Given the description of an element on the screen output the (x, y) to click on. 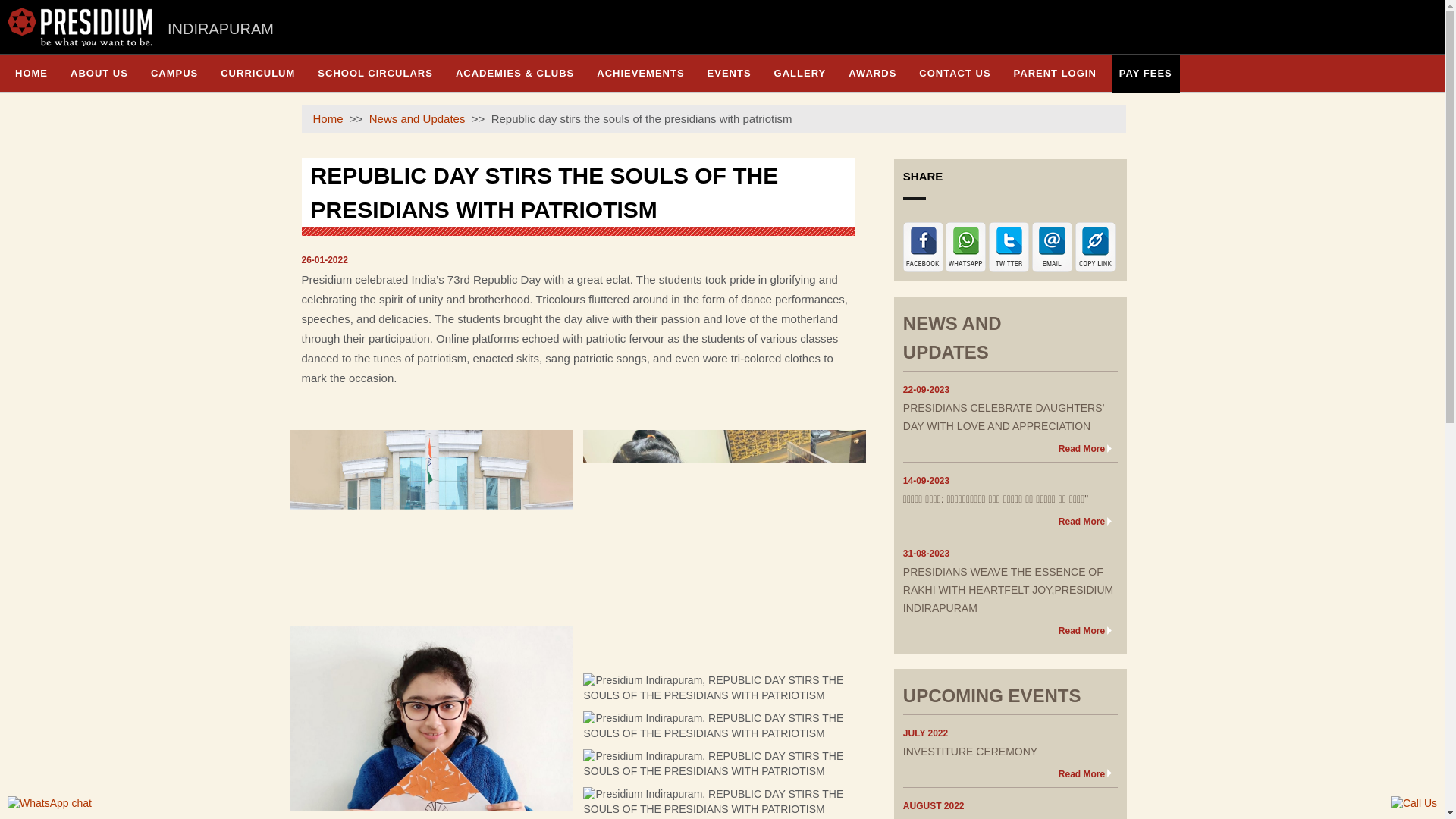
CAMPUS (173, 72)
SCHOOL CIRCULARS (375, 72)
ABOUT US (98, 72)
CURRICULUM (257, 72)
